Given the description of an element on the screen output the (x, y) to click on. 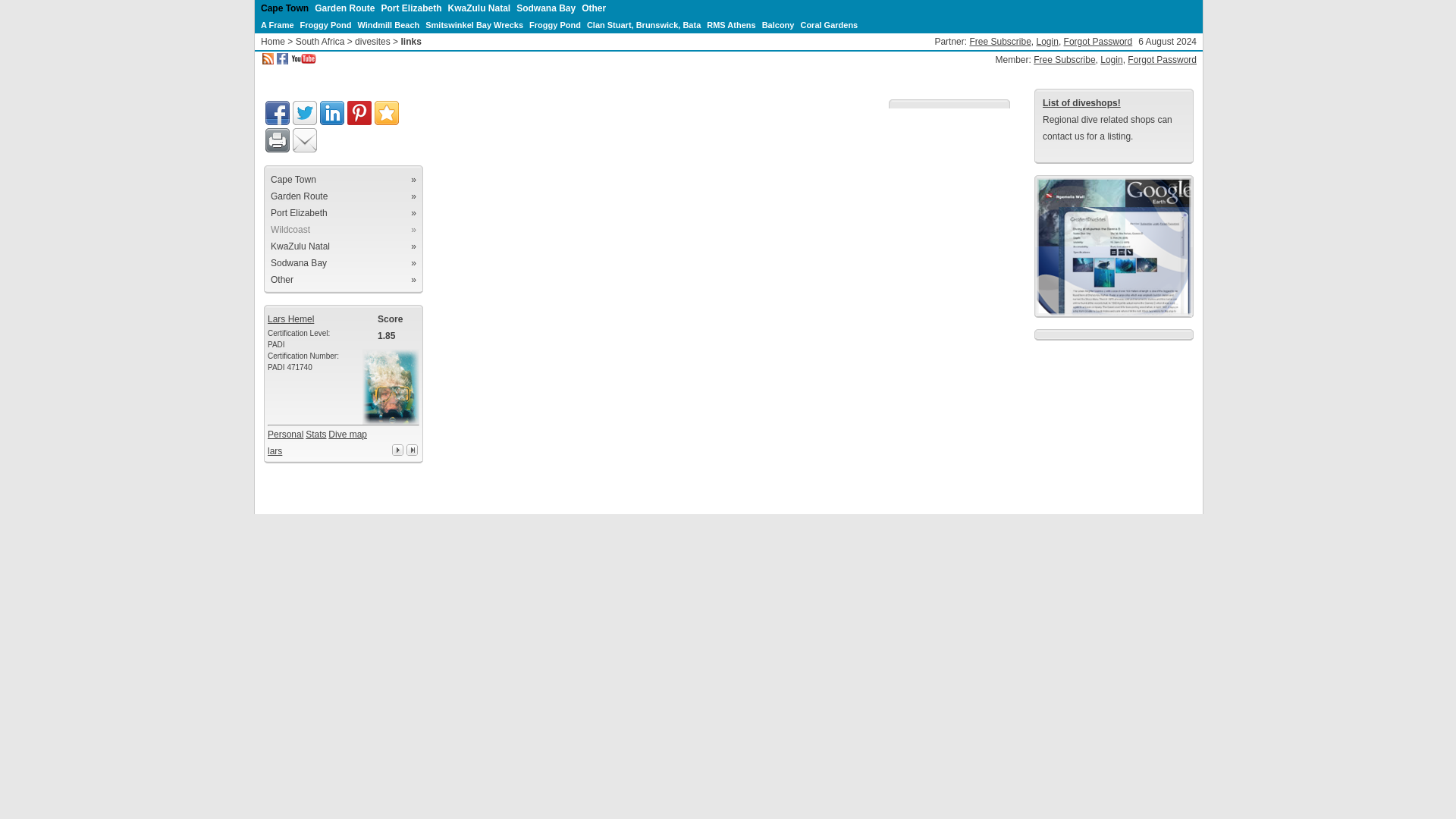
KwaZulu Natal (478, 8)
Sodwana Bay (545, 8)
Port Elizabeth (410, 8)
A Frame (277, 24)
Froggy Pond (554, 24)
Other (592, 8)
Clan Stuart, Brunswick, Bata (643, 24)
Smitswinkel Bay Wrecks (473, 24)
Balcony (777, 24)
Coral Gardens (828, 24)
